Given the description of an element on the screen output the (x, y) to click on. 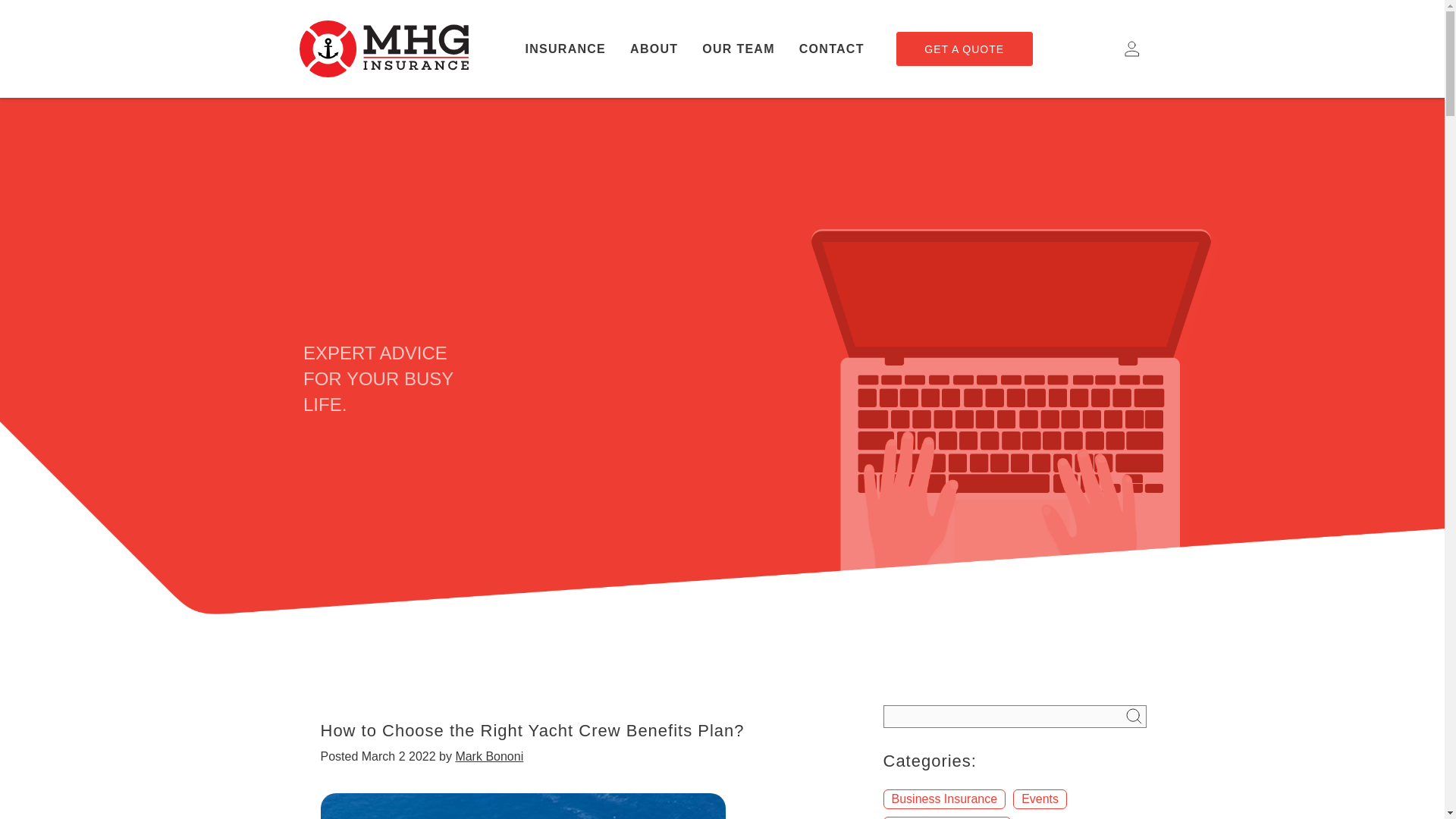
INSURANCE (564, 49)
Search (1133, 715)
GET A QUOTE (964, 48)
Search (1133, 715)
How to Choose the Right Yacht Crew Benefits Plan? (532, 730)
How to Choose the Right Yacht Crew Benefits Plan? (522, 806)
ABOUT (653, 49)
OUR TEAM (738, 49)
Member Login (1132, 49)
CONTACT (831, 49)
Mark Bononi (488, 756)
